Given the description of an element on the screen output the (x, y) to click on. 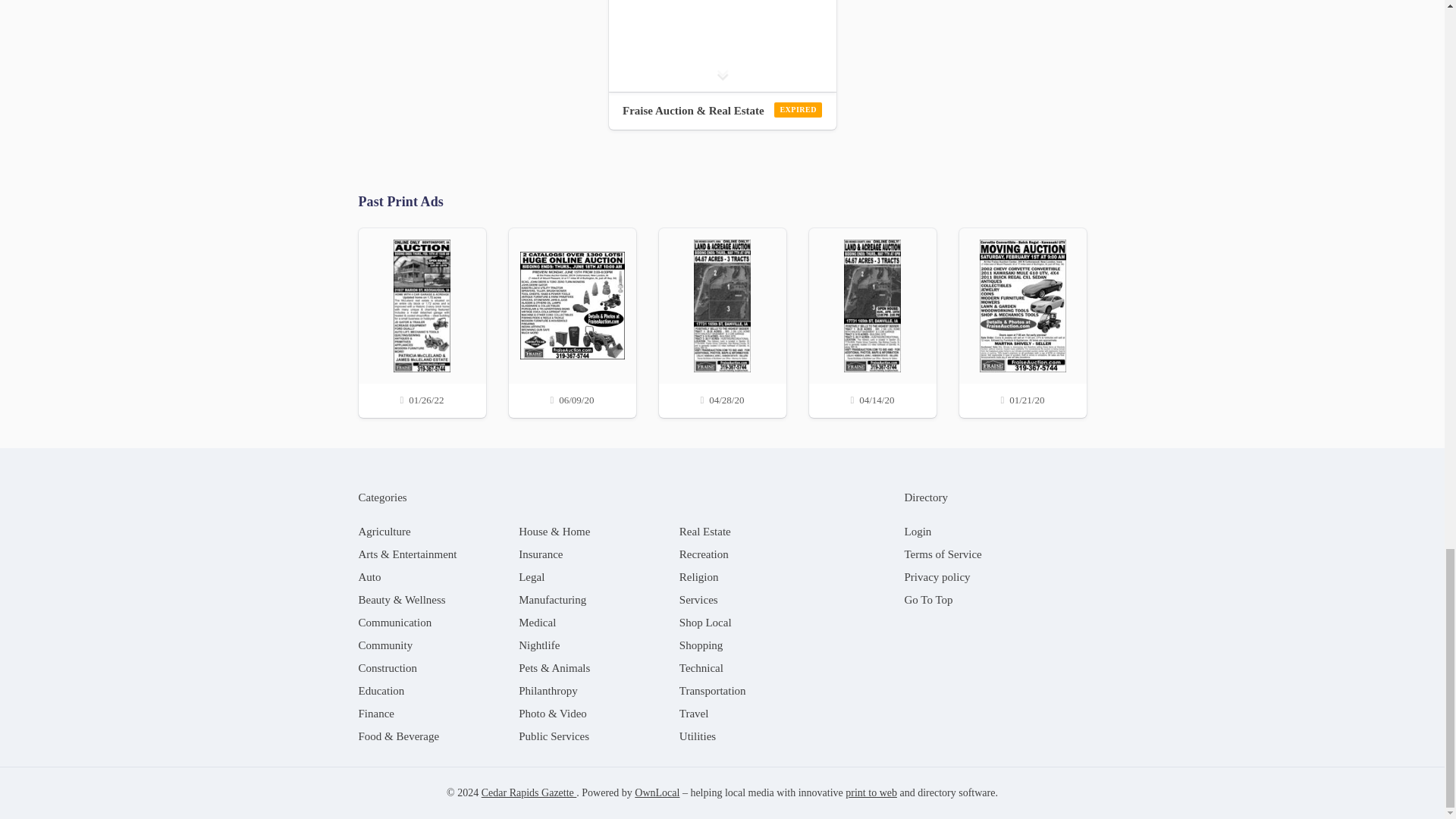
Construction (387, 667)
Auto (369, 576)
Insurance (540, 553)
translation missing: en.login (917, 531)
Legal (531, 576)
Manufacturing (552, 599)
Agriculture (384, 531)
Communication (394, 622)
Community (385, 645)
Finance (375, 713)
